Given the description of an element on the screen output the (x, y) to click on. 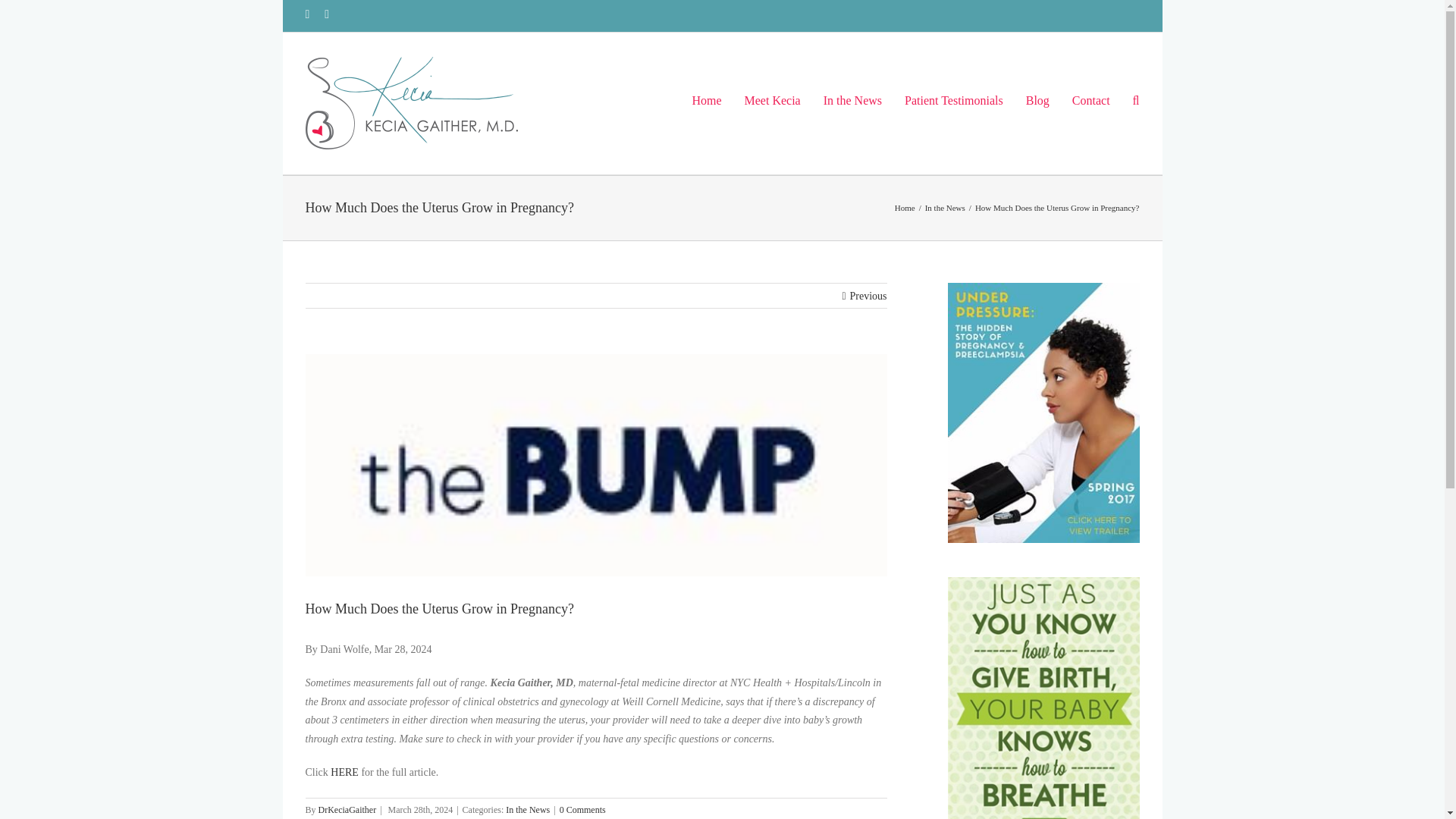
In the News (944, 207)
Posts by DrKeciaGaither (347, 809)
HERE (344, 772)
0 Comments (582, 809)
Home (905, 207)
View Larger Image (595, 464)
Previous (867, 296)
DrKeciaGaither (347, 809)
In the News (527, 809)
